Given the description of an element on the screen output the (x, y) to click on. 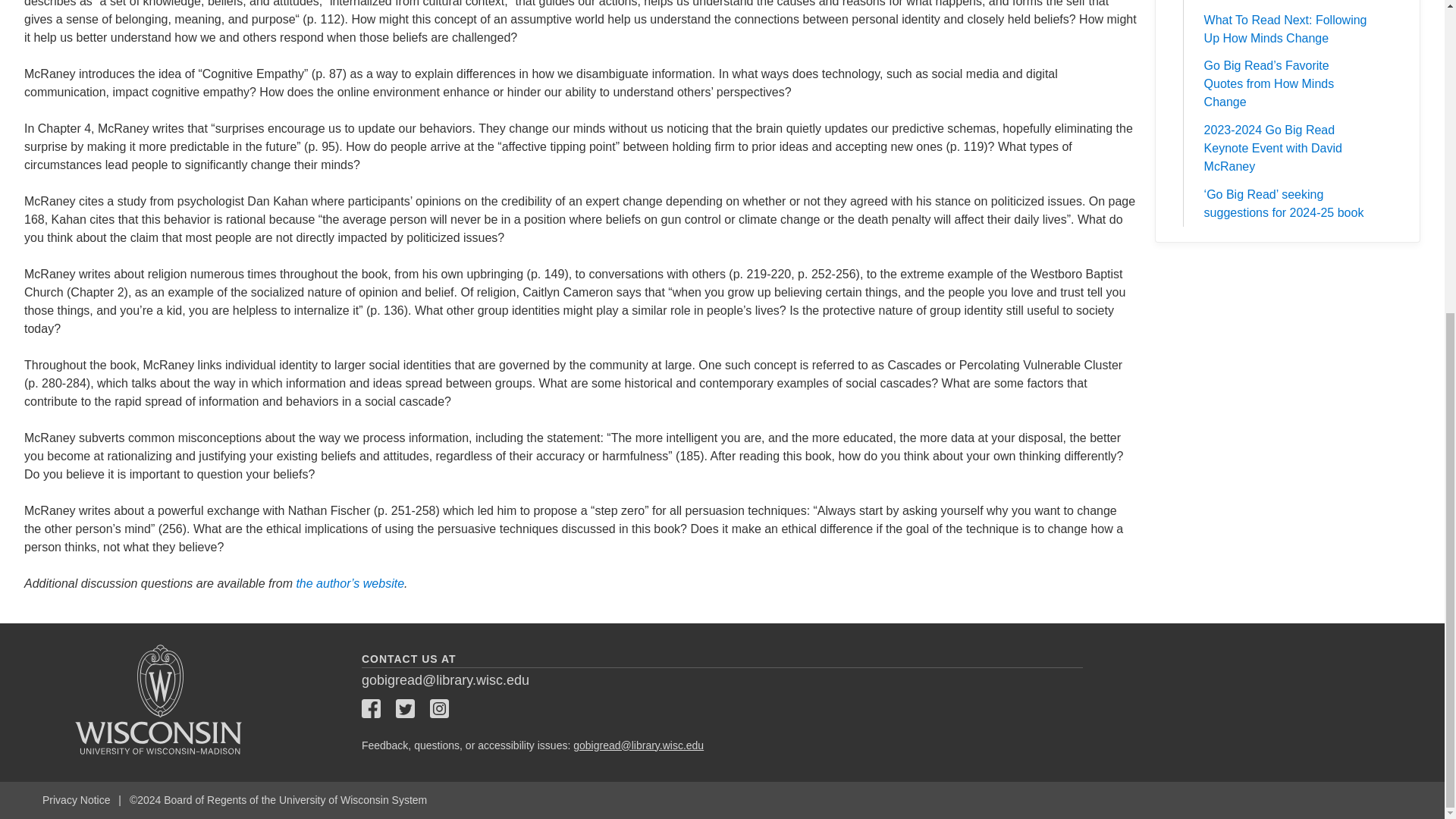
Privacy Notice (78, 799)
2023-2024 Go Big Read Keynote Event with David McRaney  (1286, 148)
What To Read Next: Following Up How Minds Change  (1286, 28)
